Given the description of an element on the screen output the (x, y) to click on. 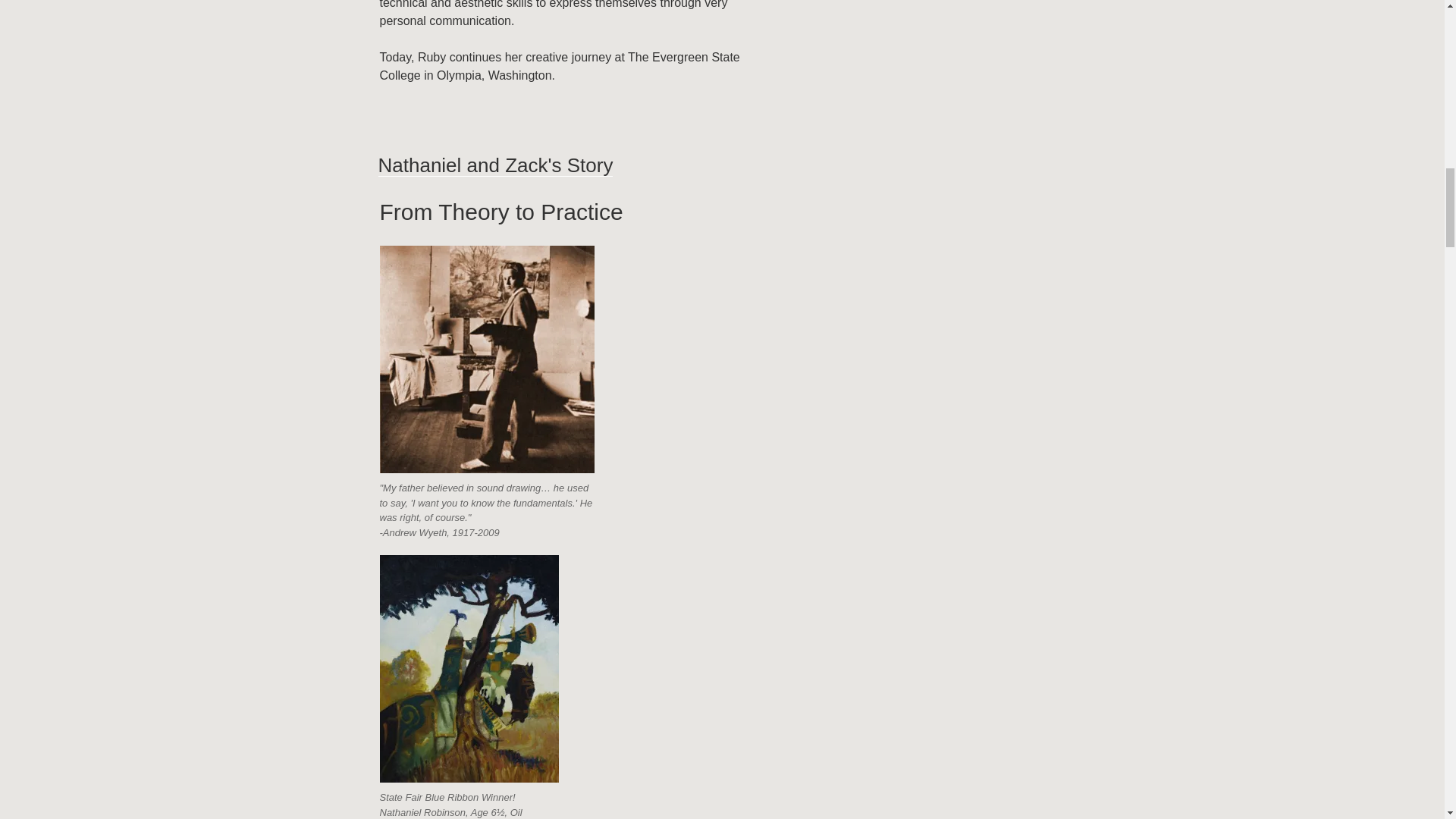
Nathaniel and Zack's Story (494, 164)
